Given the description of an element on the screen output the (x, y) to click on. 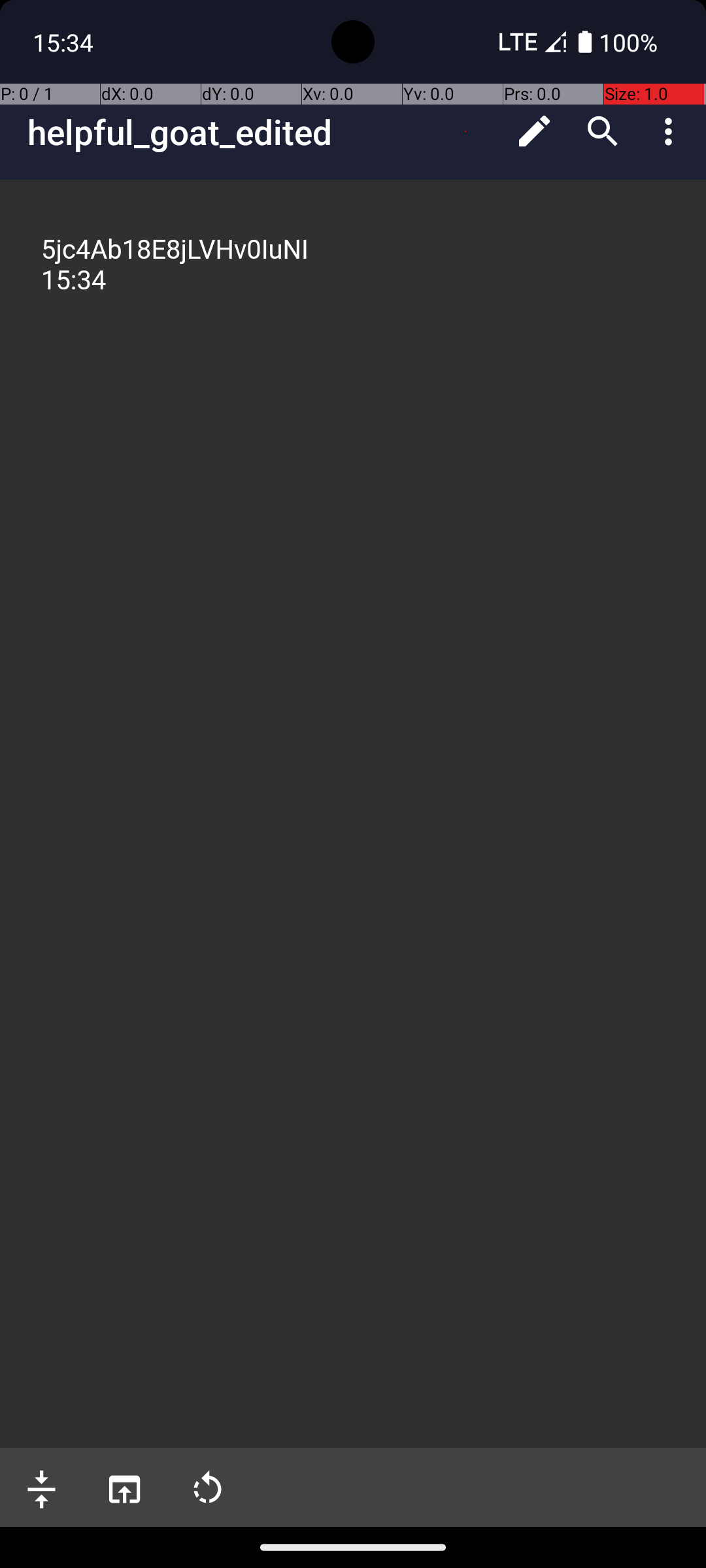
helpful_goat_edited Element type: android.widget.TextView (263, 131)
5jc4Ab18E8jLVHv0IuNI
15:34 Element type: android.widget.TextView (354, 264)
